Given the description of an element on the screen output the (x, y) to click on. 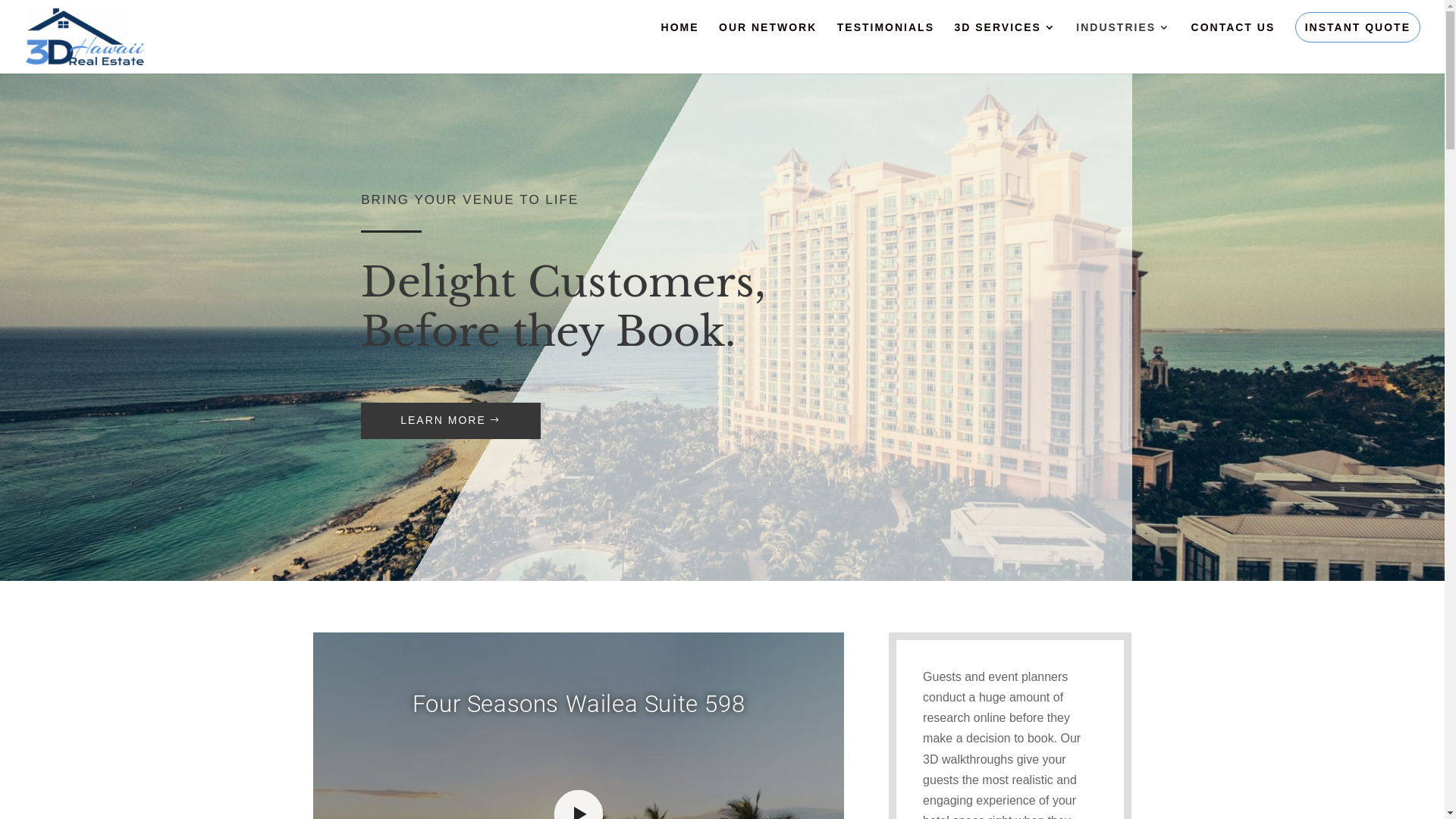
HOME Element type: text (680, 47)
LEARN MORE Element type: text (450, 420)
OUR NETWORK Element type: text (767, 47)
CONTACT US Element type: text (1233, 47)
TESTIMONIALS Element type: text (885, 47)
INDUSTRIES Element type: text (1123, 47)
3D SERVICES Element type: text (1004, 47)
INSTANT QUOTE Element type: text (1357, 27)
